Given the description of an element on the screen output the (x, y) to click on. 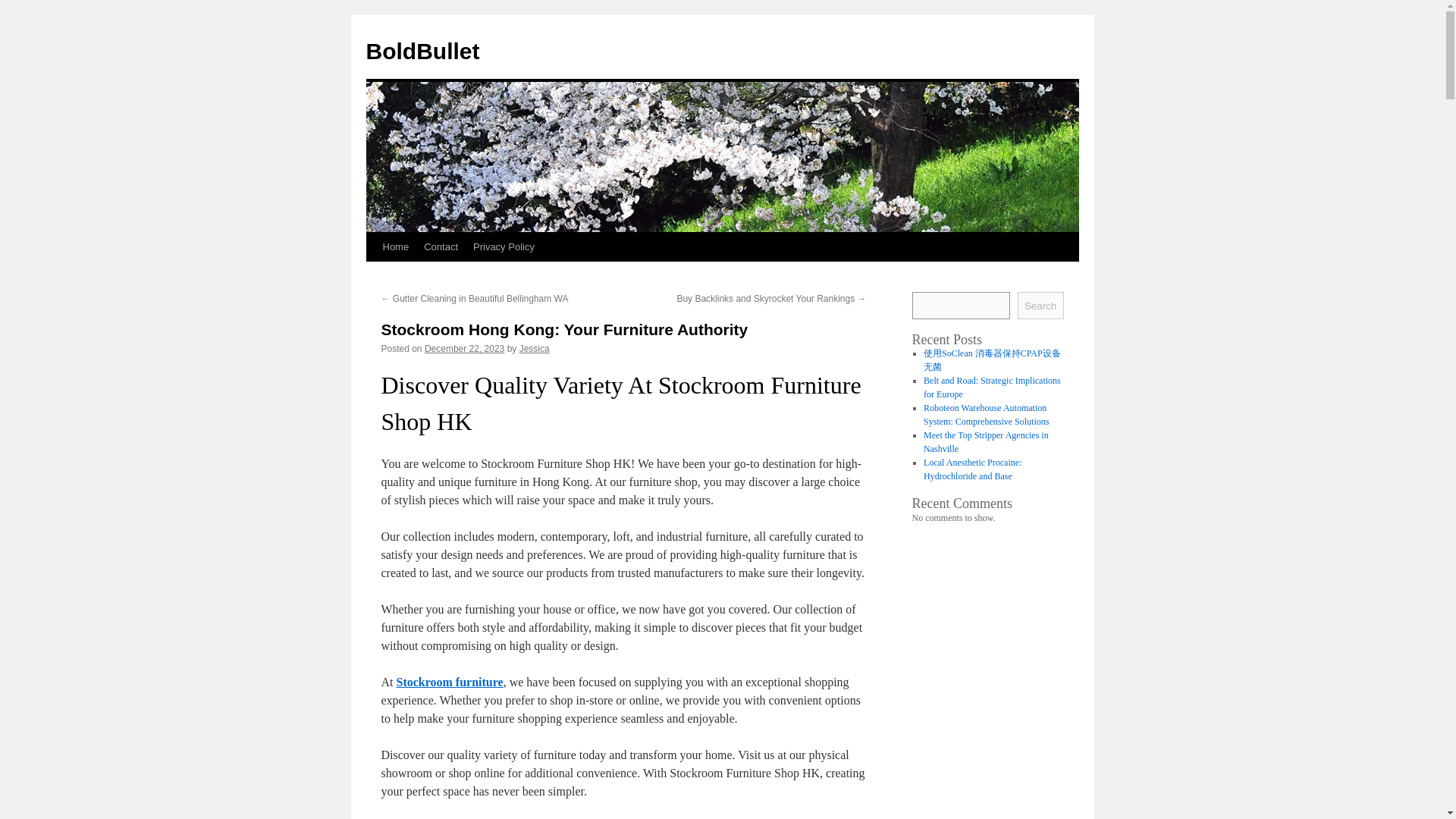
Privacy Policy (503, 246)
Meet the Top Stripper Agencies in Nashville (985, 441)
Home (395, 246)
December 22, 2023 (464, 348)
View all posts by Jessica (534, 348)
Stockroom furniture (449, 681)
Belt and Road: Strategic Implications for Europe (992, 387)
Jessica (534, 348)
Skip to content (372, 274)
Local Anesthetic Procaine: Hydrochloride and Base (972, 469)
1:32 pm (464, 348)
Search (1040, 305)
BoldBullet (422, 50)
Contact (440, 246)
